Given the description of an element on the screen output the (x, y) to click on. 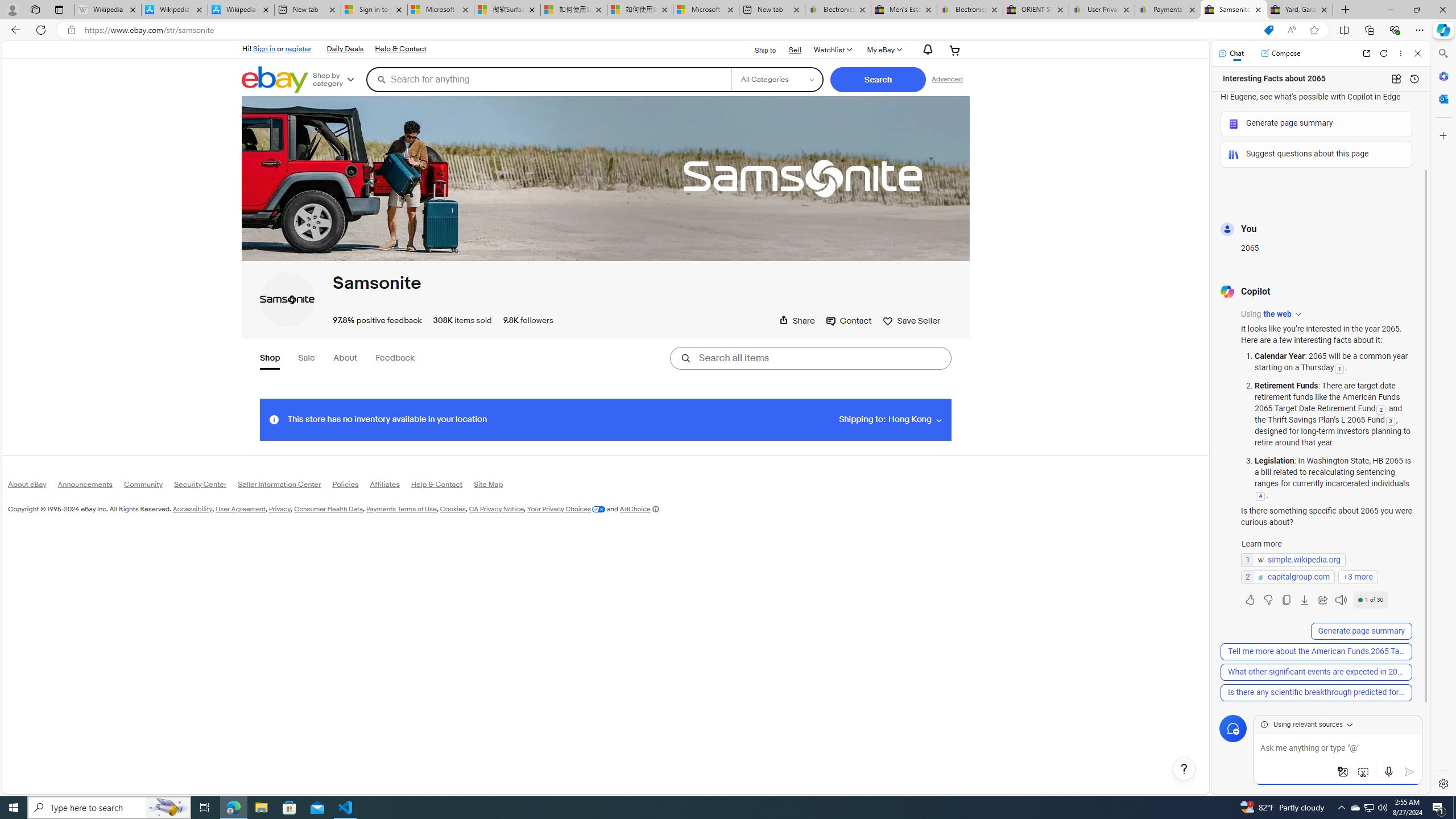
WatchlistExpand Watch List (831, 49)
Sign in (264, 48)
Daily Deals (345, 49)
Announcements (89, 486)
Affiliates (389, 486)
Community (148, 486)
Samsonite | eBay Stores (1233, 9)
Seller Information Center (285, 486)
Share this page (796, 320)
